Given the description of an element on the screen output the (x, y) to click on. 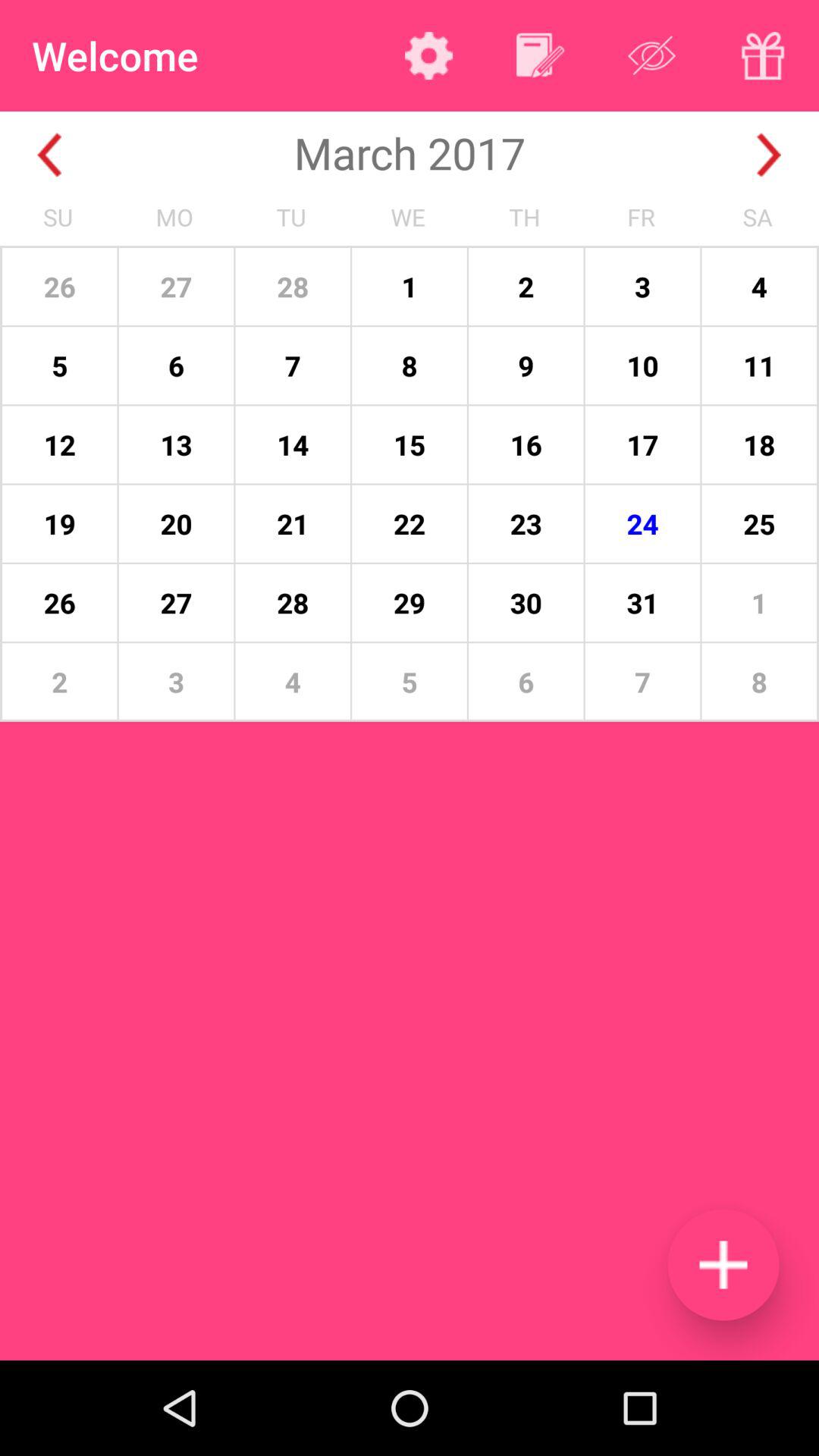
add calendar event (723, 1264)
